Given the description of an element on the screen output the (x, y) to click on. 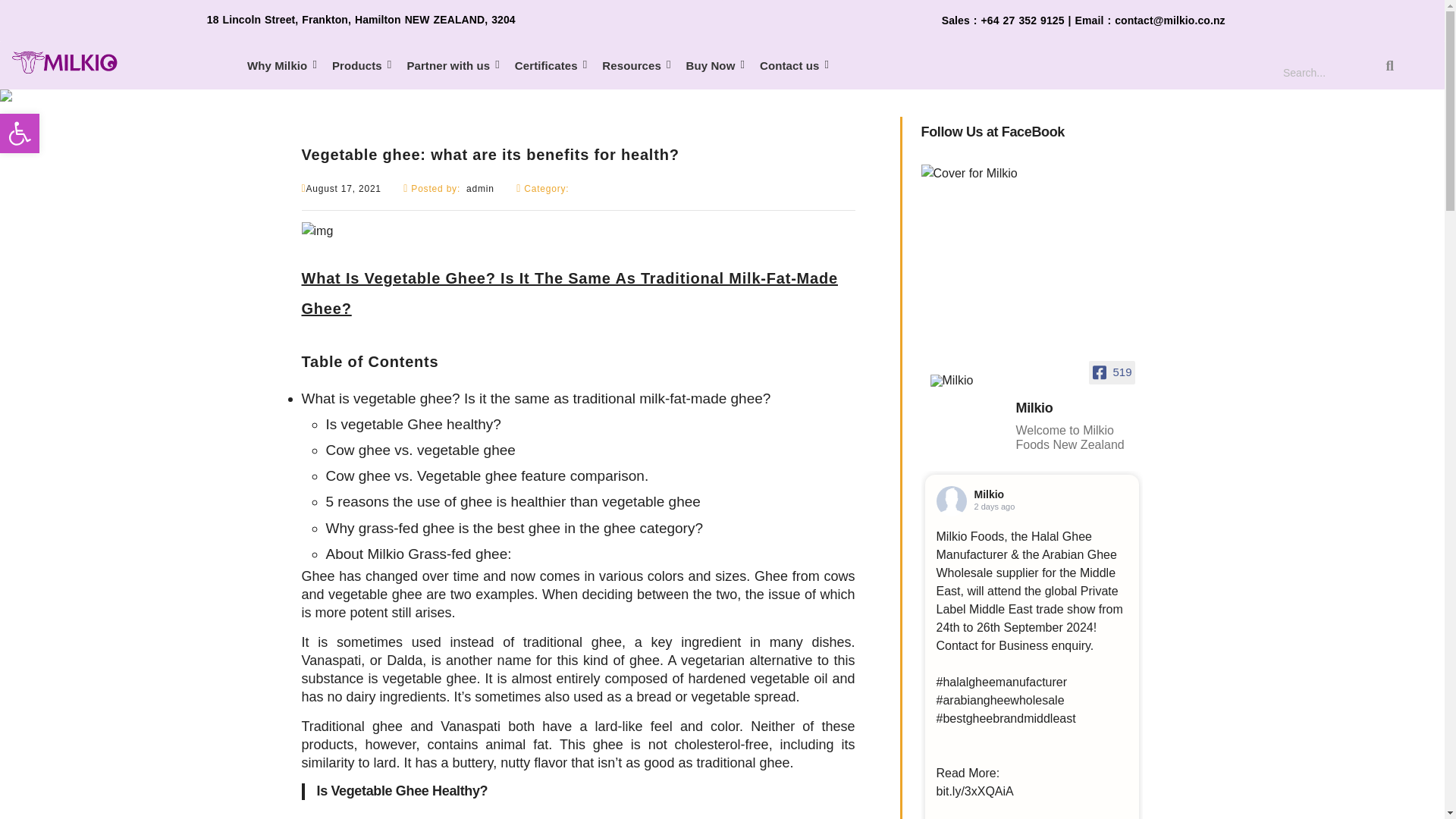
Accessibility Tools (19, 133)
Accessibility Tools (19, 133)
Products (361, 64)
Why Milkio (282, 64)
